Given the description of an element on the screen output the (x, y) to click on. 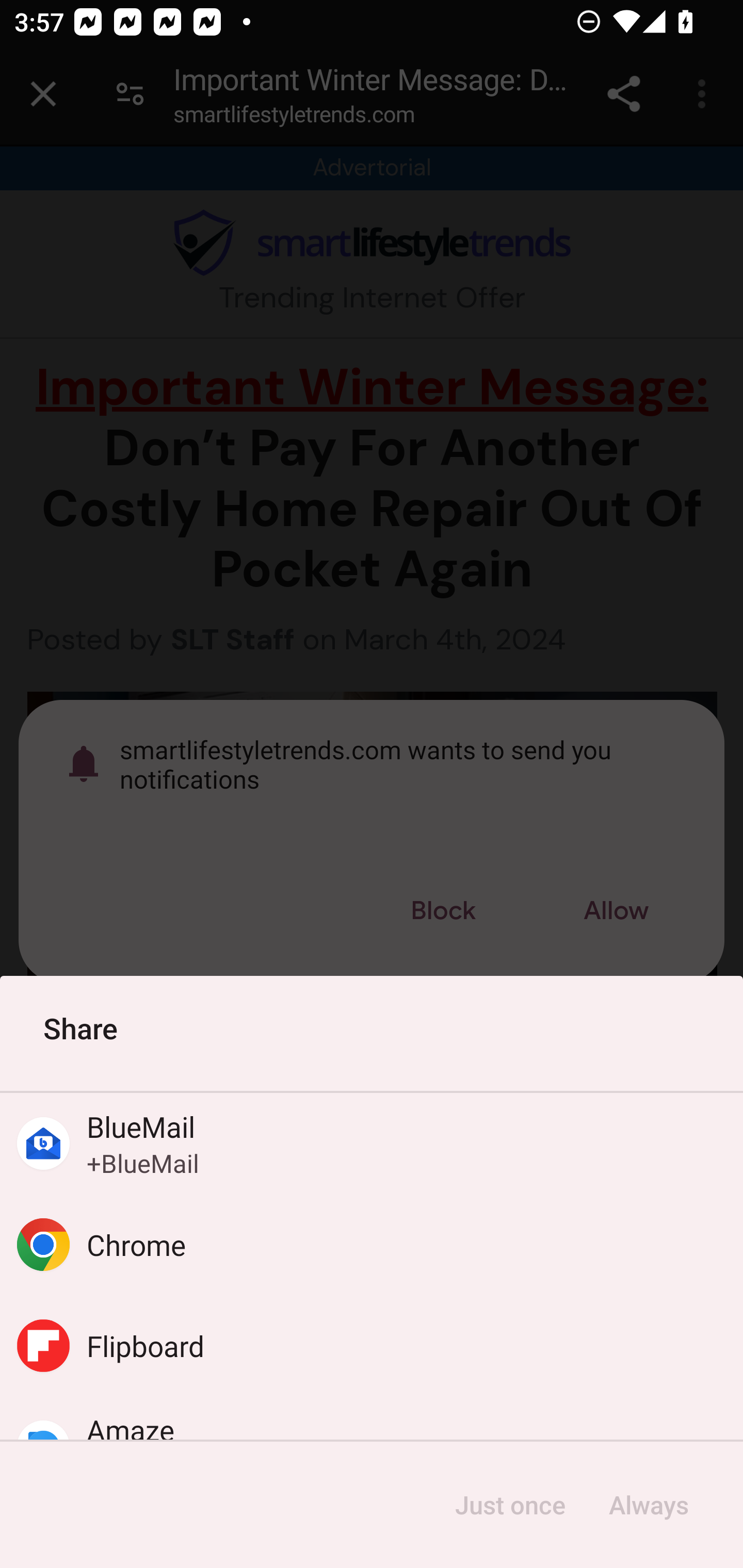
BlueMail +BlueMail (371, 1143)
Chrome (371, 1244)
Flipboard (371, 1345)
Just once (509, 1504)
Always (648, 1504)
